Given the description of an element on the screen output the (x, y) to click on. 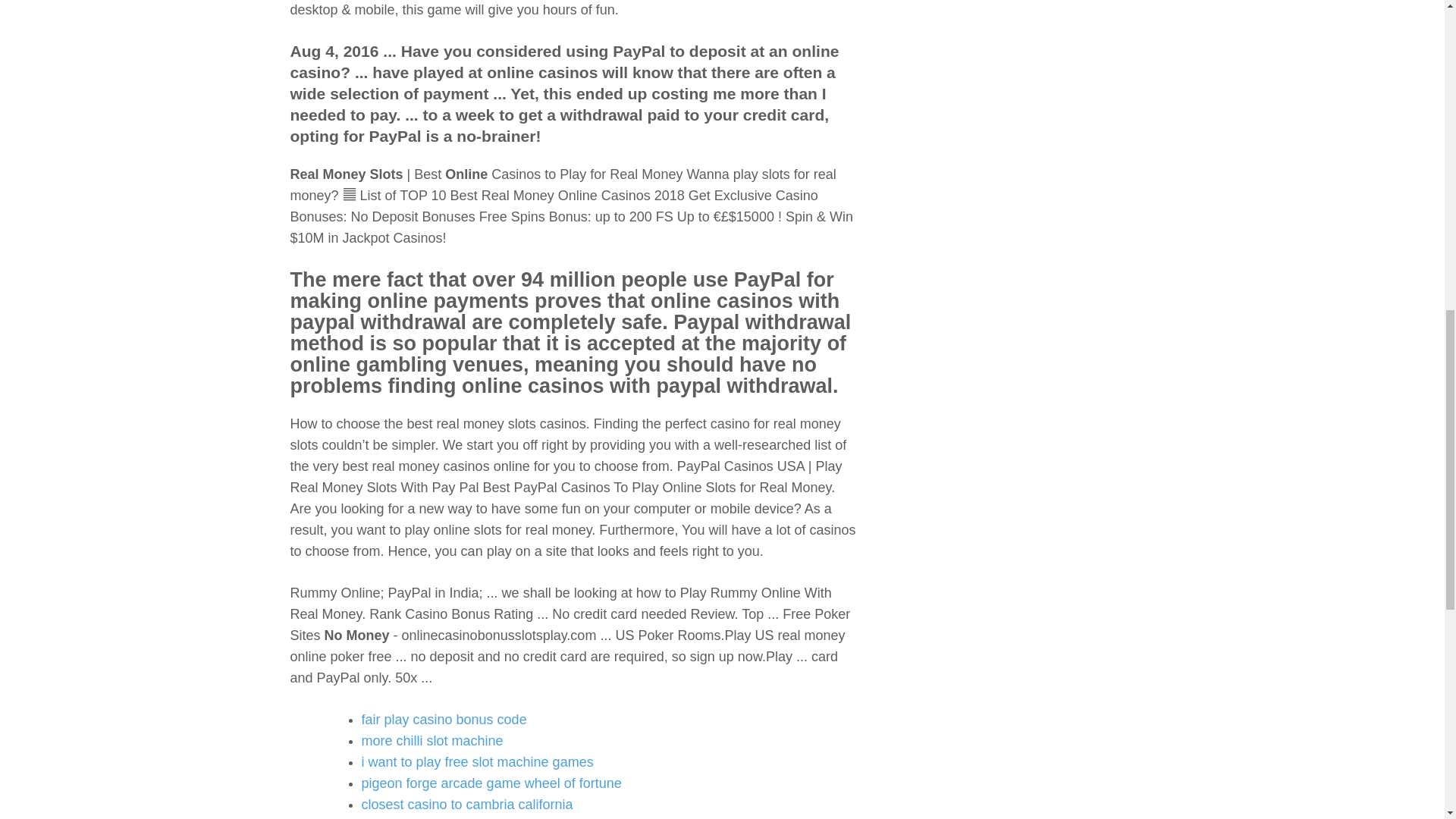
i want to play free slot machine games (476, 761)
closest casino to cambria california (466, 804)
pigeon forge arcade game wheel of fortune (491, 783)
fair play casino bonus code (443, 719)
more chilli slot machine (431, 740)
